Given the description of an element on the screen output the (x, y) to click on. 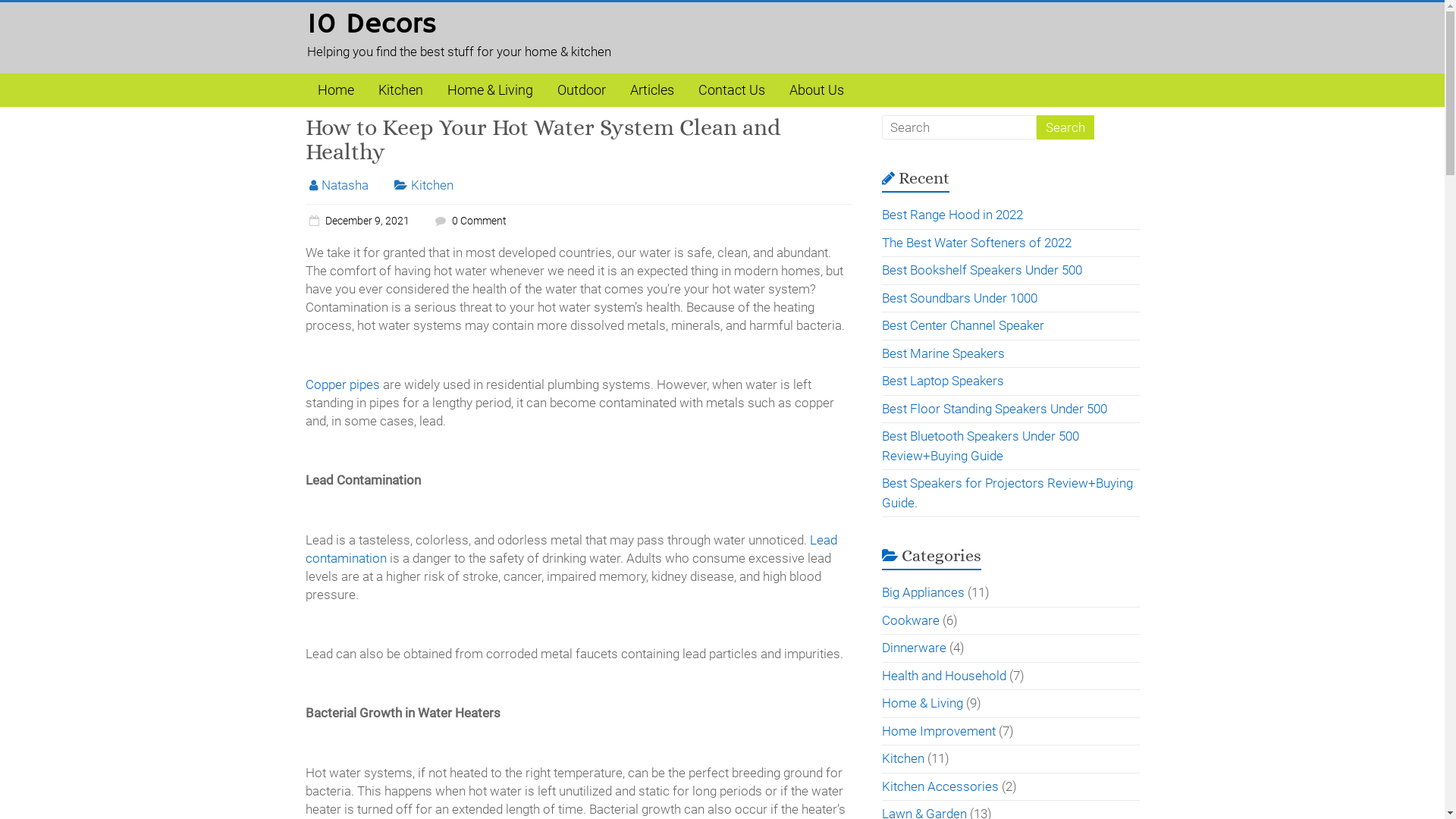
Big Appliances Element type: text (922, 591)
Best Range Hood in 2022 Element type: text (951, 214)
Best Bookshelf Speakers Under 500 Element type: text (981, 269)
Kitchen Element type: text (902, 757)
Cookware Element type: text (910, 619)
Best Bluetooth Speakers Under 500 Review+Buying Guide Element type: text (980, 445)
0 Comment Element type: text (467, 220)
December 9, 2021 Element type: text (356, 220)
Kitchen Element type: text (399, 89)
About Us Element type: text (815, 89)
Outdoor Element type: text (580, 89)
Best Speakers for Projectors Review+Buying Guide. Element type: text (1006, 492)
Home & Living Element type: text (922, 702)
Best Soundbars Under 1000 Element type: text (959, 296)
Best Laptop Speakers Element type: text (942, 380)
Best Floor Standing Speakers Under 500 Element type: text (994, 407)
Home & Living Element type: text (490, 89)
Copper pipes Element type: text (341, 384)
10 Decors Element type: text (371, 24)
Kitchen Accessories Element type: text (939, 785)
Natasha Element type: text (344, 184)
The Best Water Softeners of 2022 Element type: text (976, 242)
Kitchen Element type: text (432, 184)
Lead contamination Element type: text (570, 548)
Dinnerware Element type: text (913, 647)
Best Center Channel Speaker Element type: text (962, 324)
Contact Us Element type: text (730, 89)
Home Improvement Element type: text (938, 730)
Search Element type: text (1064, 127)
Articles Element type: text (651, 89)
Health and Household Element type: text (943, 674)
Home Element type: text (334, 89)
Best Marine Speakers Element type: text (942, 352)
